Given the description of an element on the screen output the (x, y) to click on. 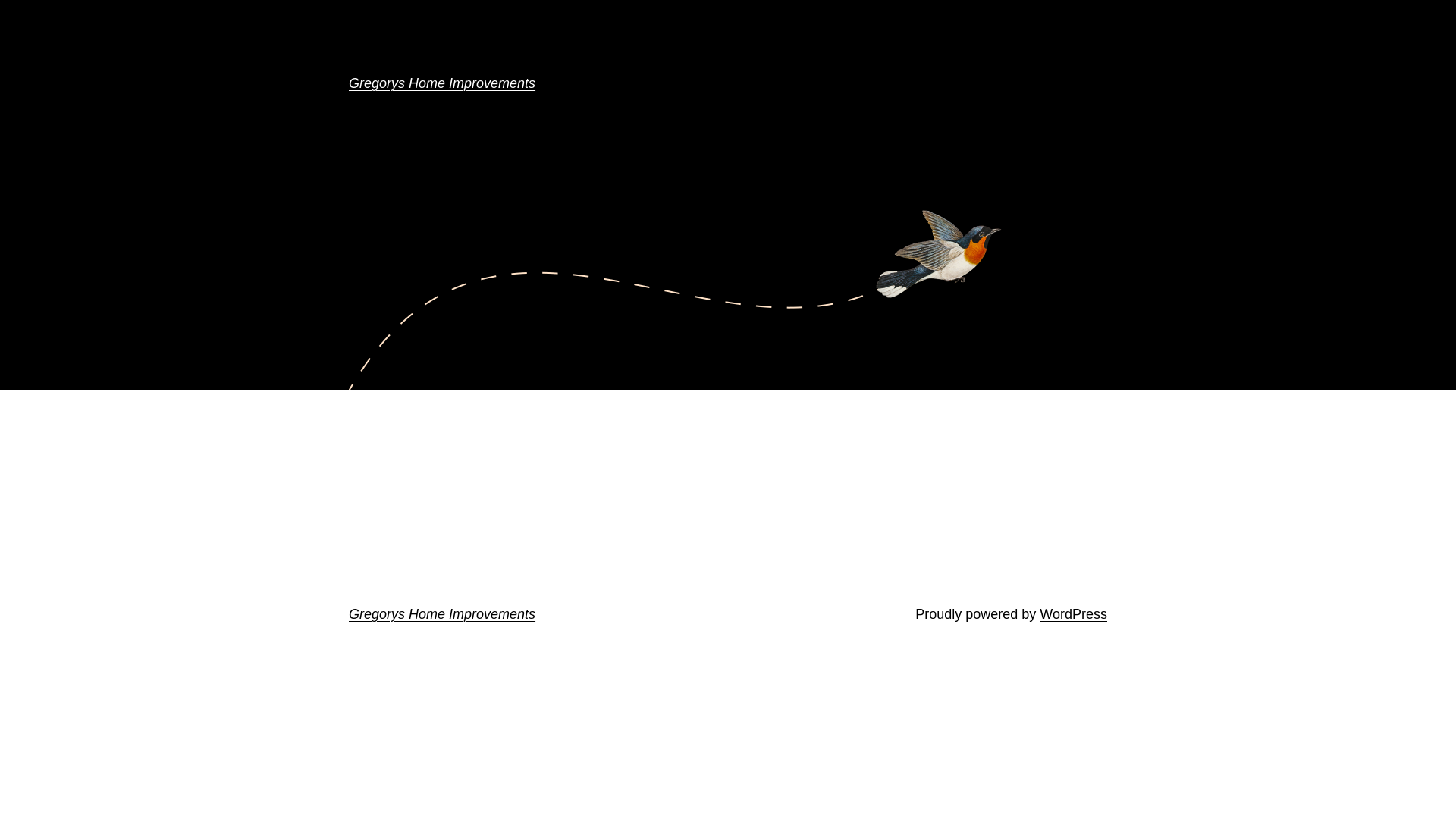
WordPress Element type: text (1073, 613)
Gregorys Home Improvements Element type: text (441, 83)
Gregorys Home Improvements Element type: text (441, 613)
